Given the description of an element on the screen output the (x, y) to click on. 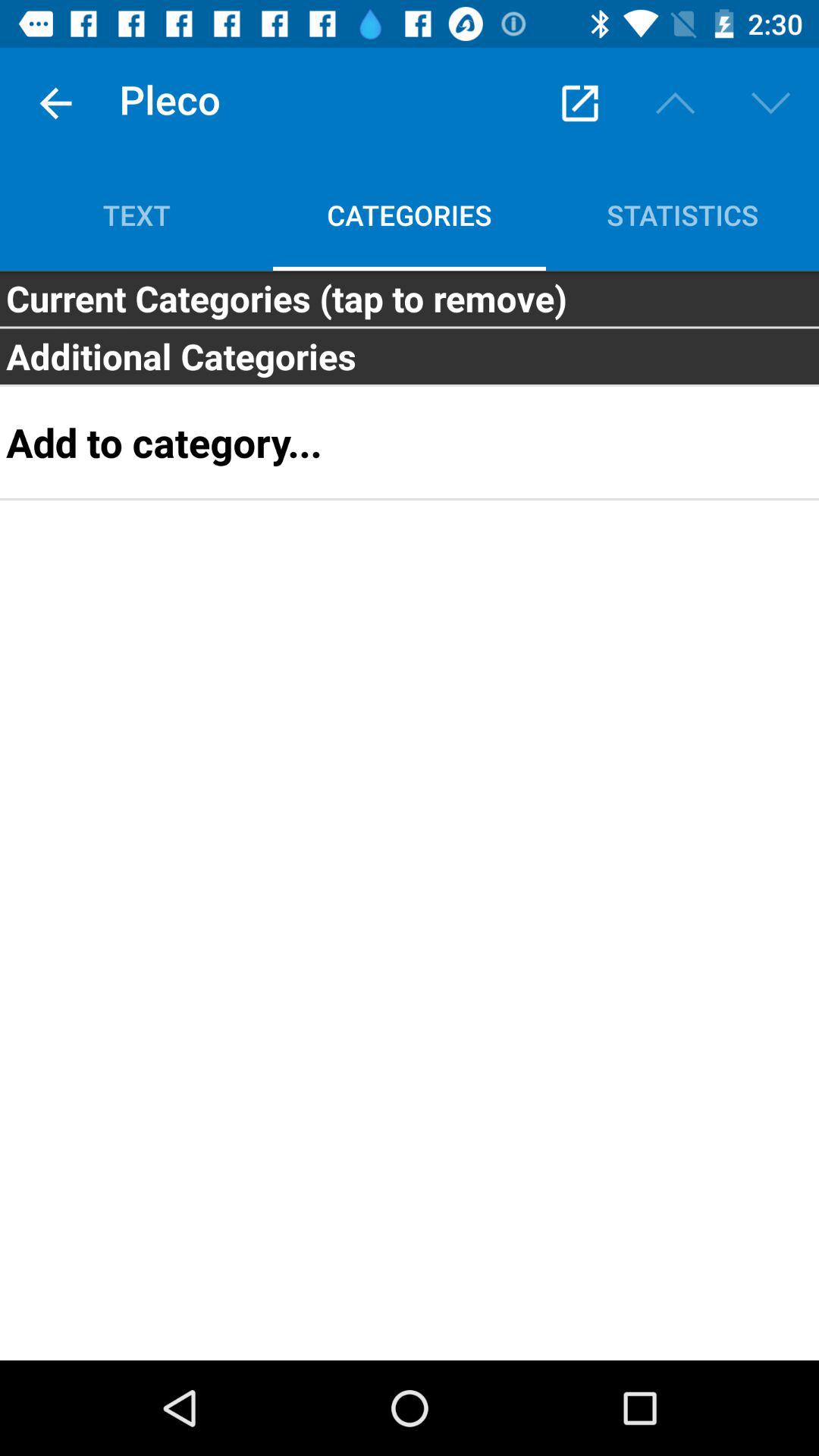
tap icon to the left of the categories icon (136, 214)
